Given the description of an element on the screen output the (x, y) to click on. 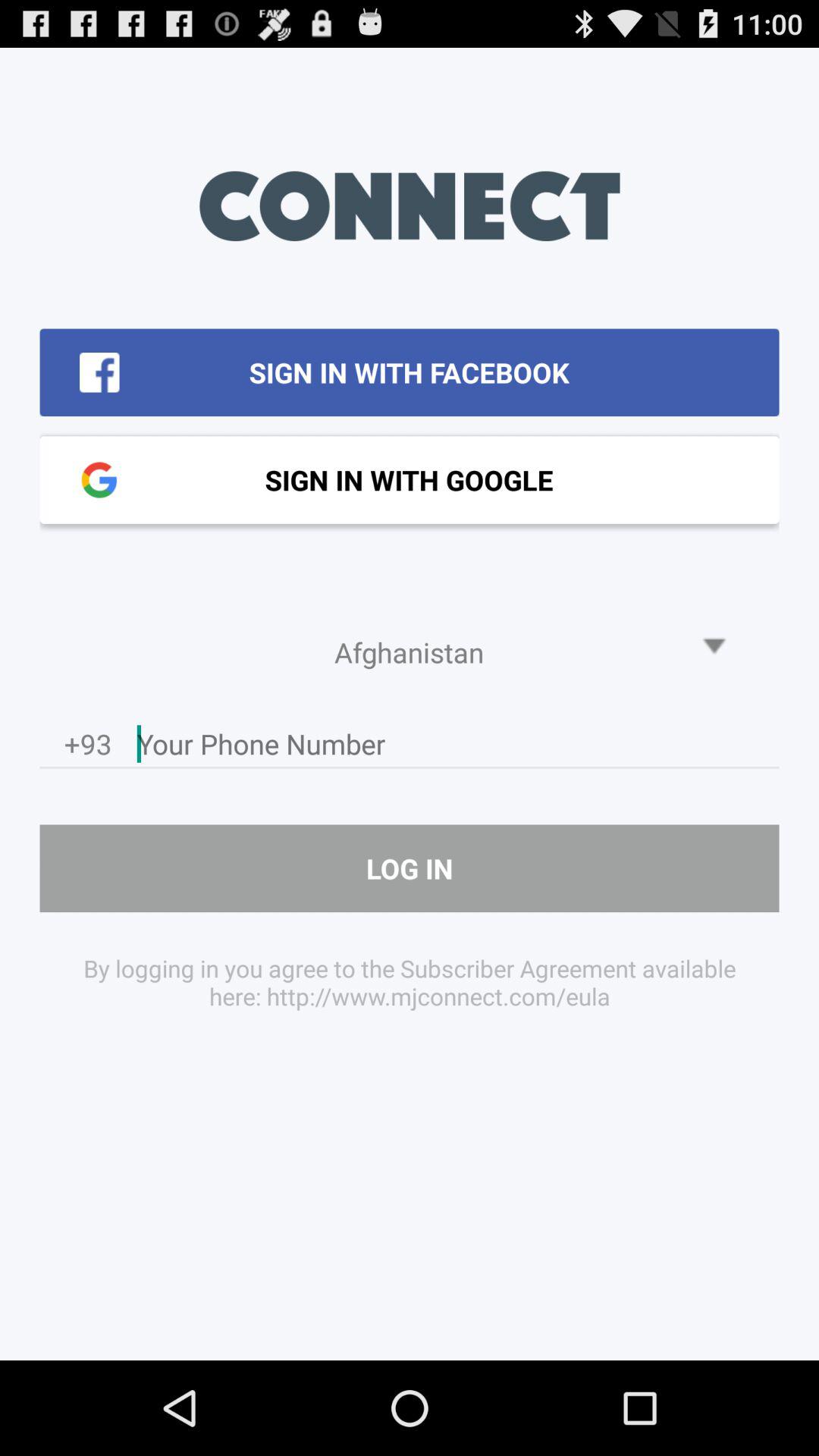
open by logging in item (409, 982)
